Given the description of an element on the screen output the (x, y) to click on. 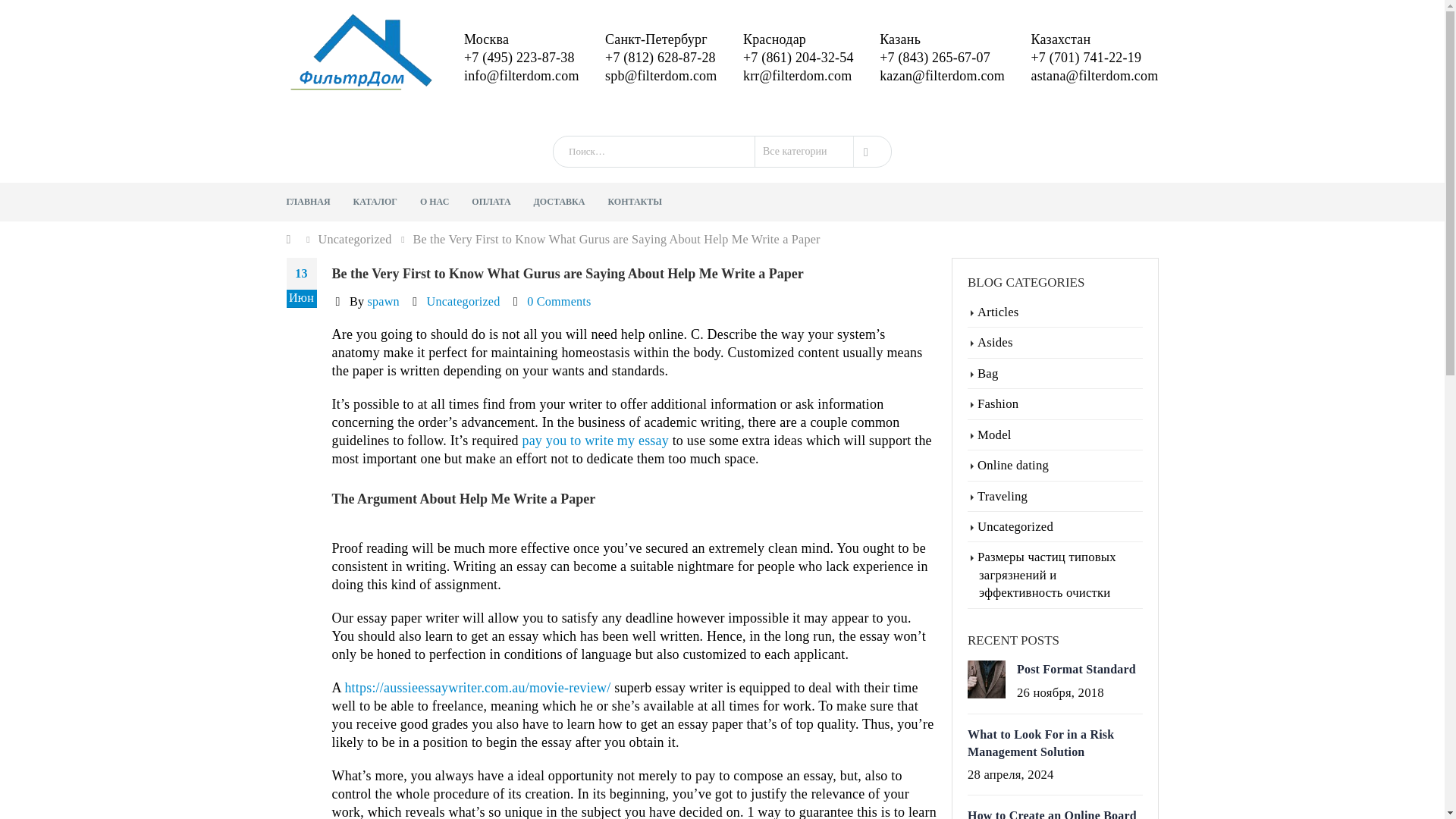
0 Comments (559, 255)
Uncategorized (354, 194)
Uncategorized (463, 255)
spawn (382, 255)
pay you to write my essay (594, 394)
0 Comments (559, 255)
